Given the description of an element on the screen output the (x, y) to click on. 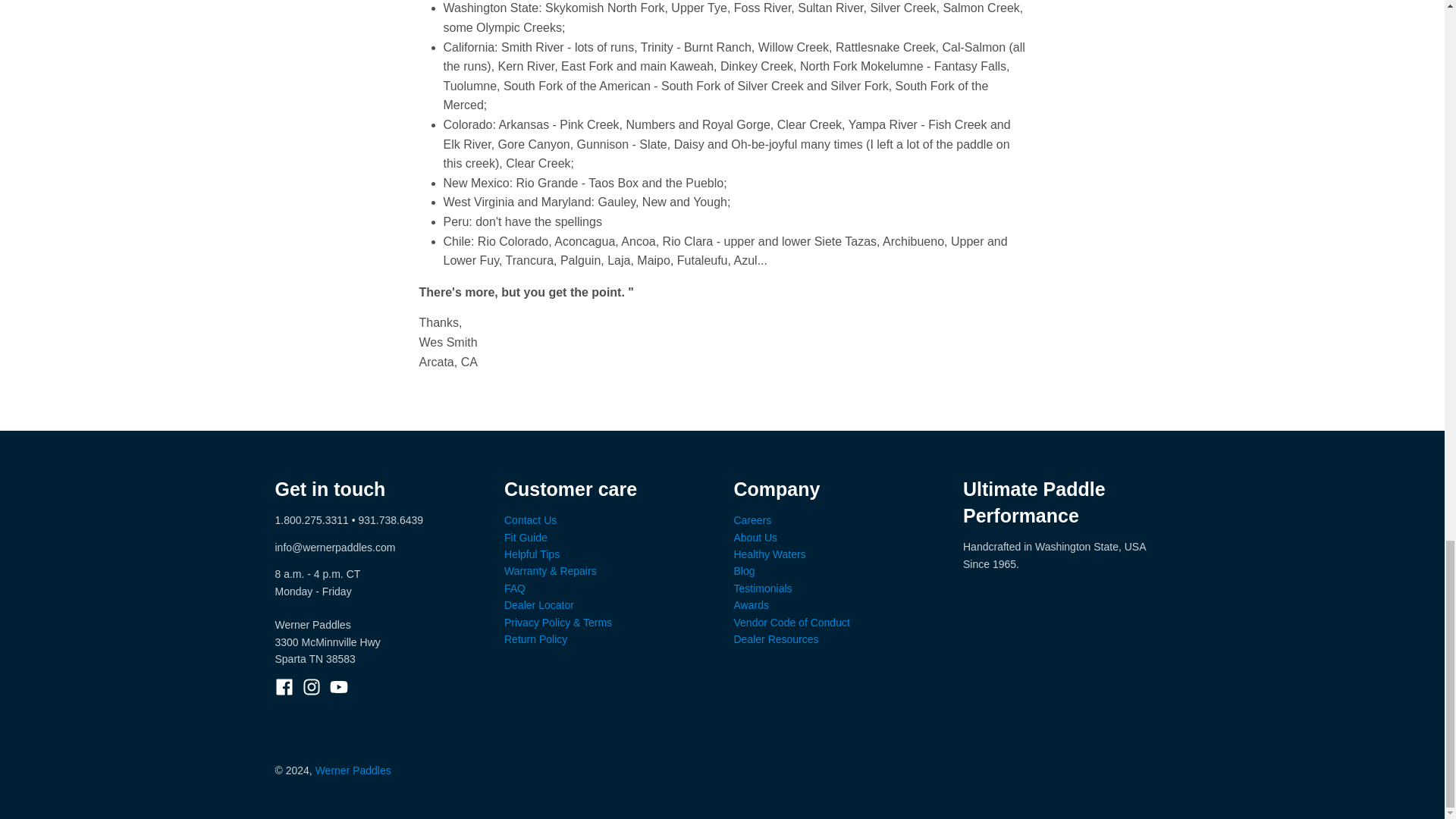
Instagram - Werner Paddles (310, 687)
YouTube - Werner Paddles (338, 687)
Facebook - Werner Paddles (283, 687)
